Given the description of an element on the screen output the (x, y) to click on. 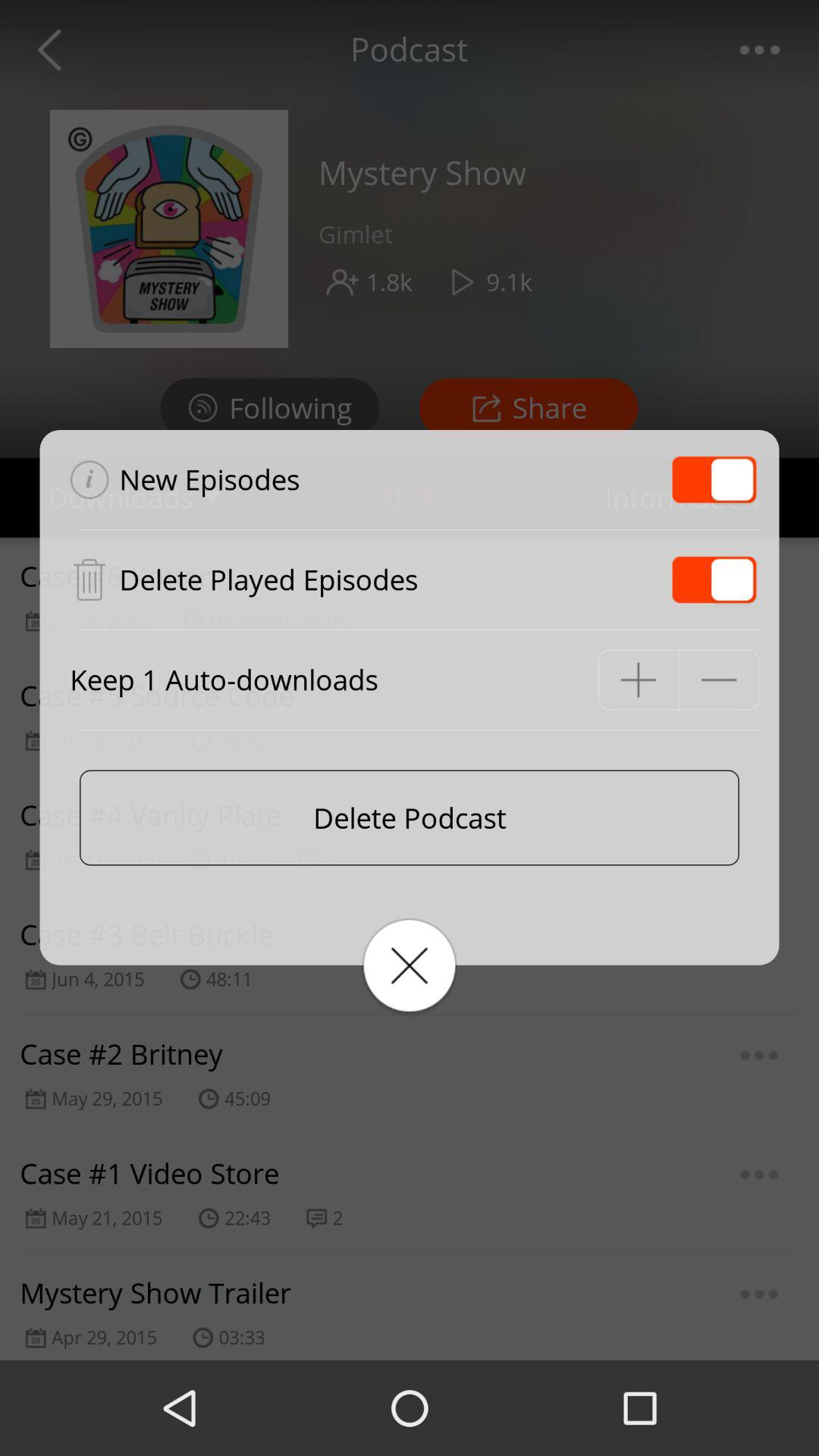
launch delete podcast icon (409, 817)
